Given the description of an element on the screen output the (x, y) to click on. 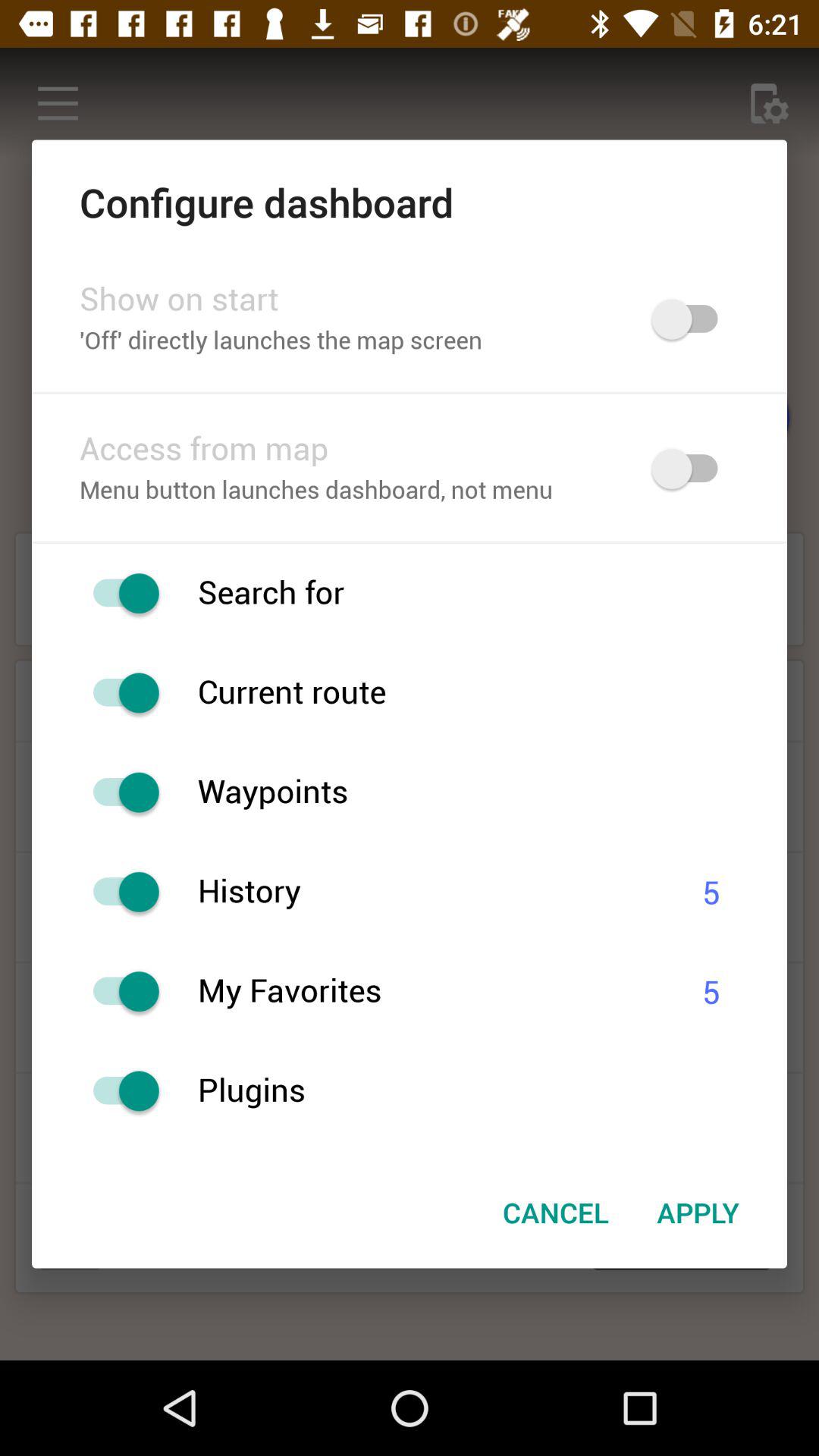
jump to the waypoints item (492, 792)
